Given the description of an element on the screen output the (x, y) to click on. 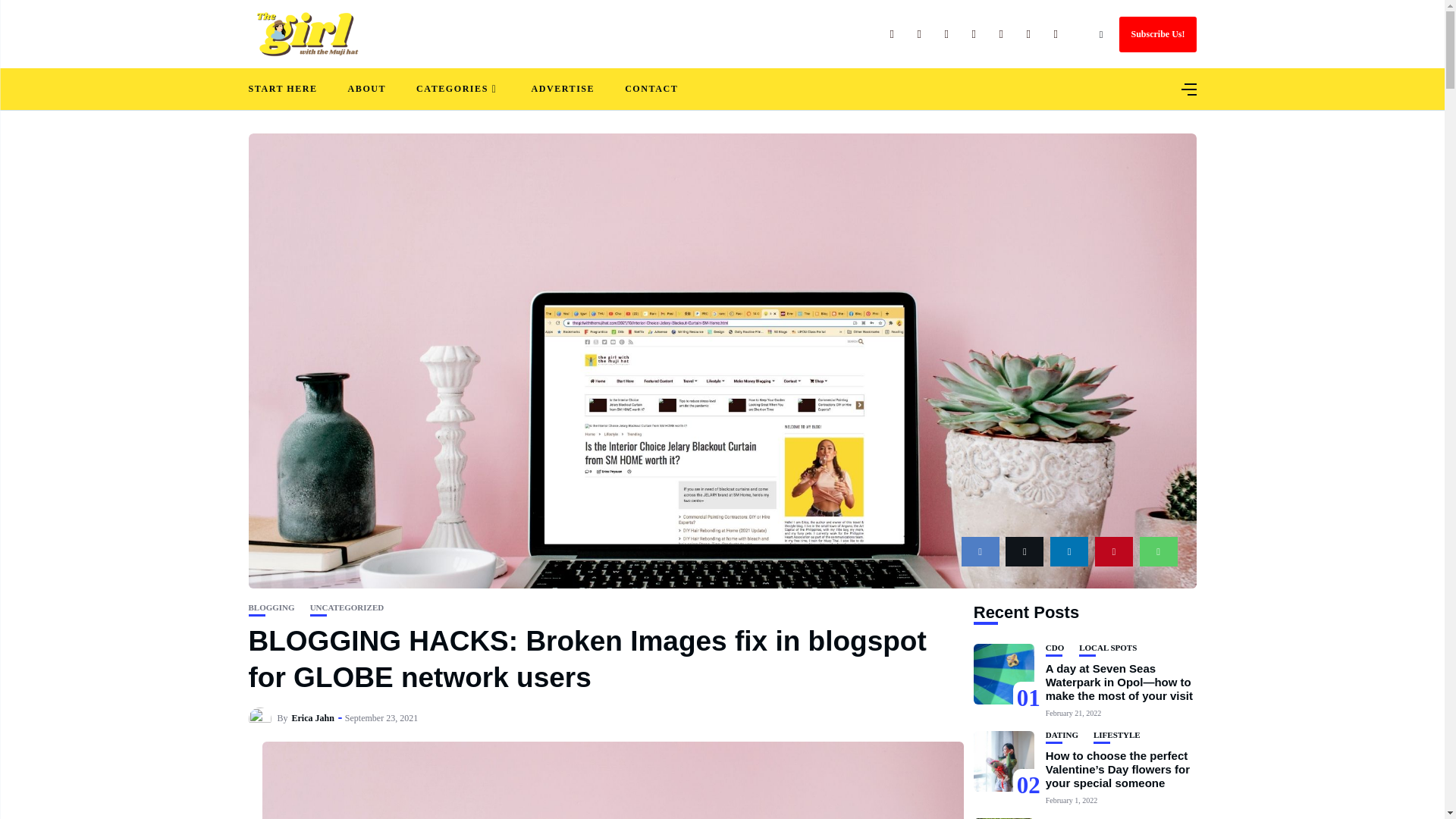
Posts by Erica Jahn (313, 717)
facebook (979, 551)
